Given the description of an element on the screen output the (x, y) to click on. 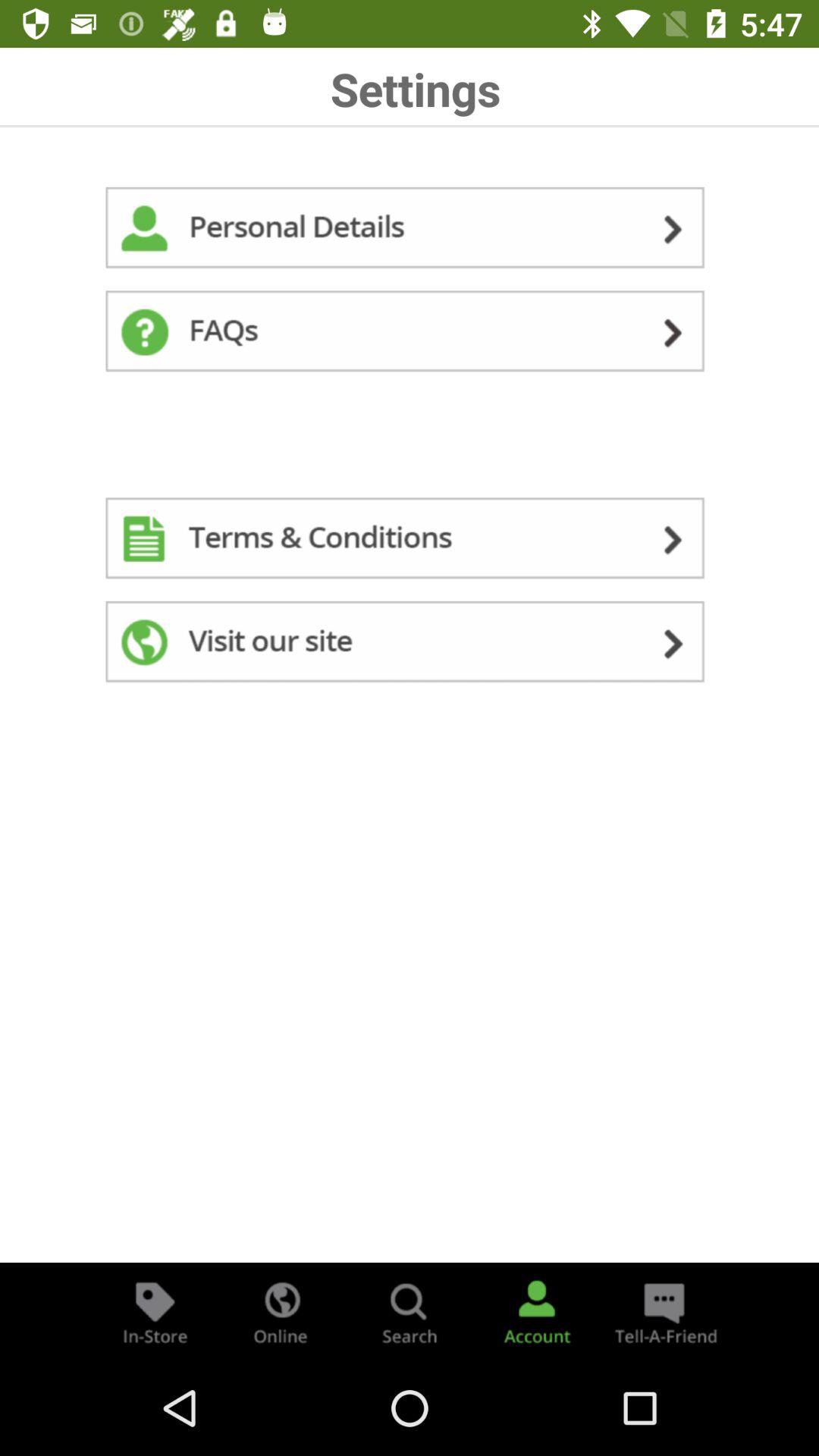
go to account (536, 1311)
